Given the description of an element on the screen output the (x, y) to click on. 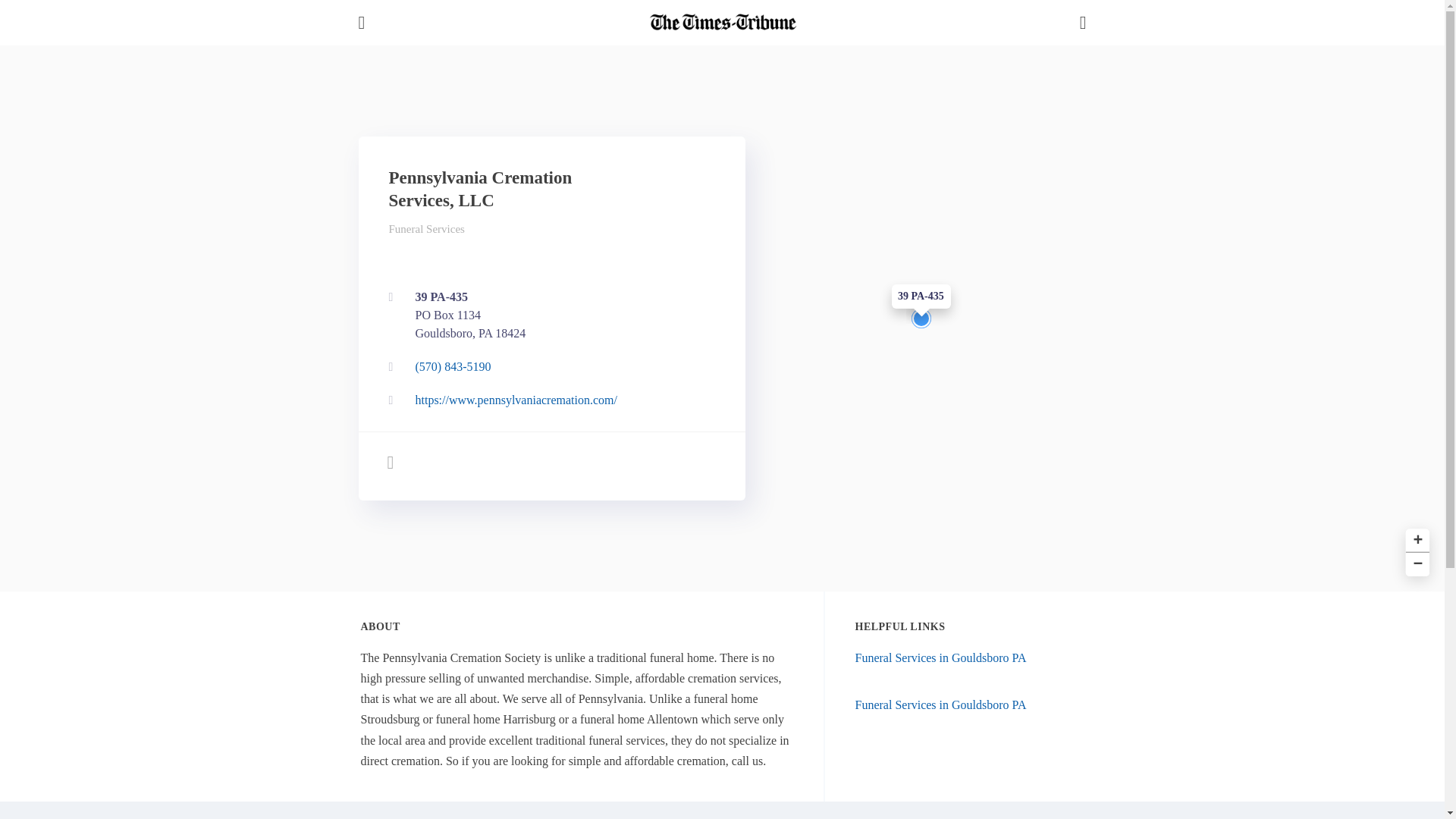
Call Phone Number (547, 367)
Zoom out (1415, 562)
Funeral Services (426, 228)
Funeral Services in Gouldsboro PA (941, 657)
Get directions (547, 315)
Zoom in (1415, 537)
Funeral Services in Gouldsboro PA (547, 315)
Open website in a new tab (941, 704)
